Given the description of an element on the screen output the (x, y) to click on. 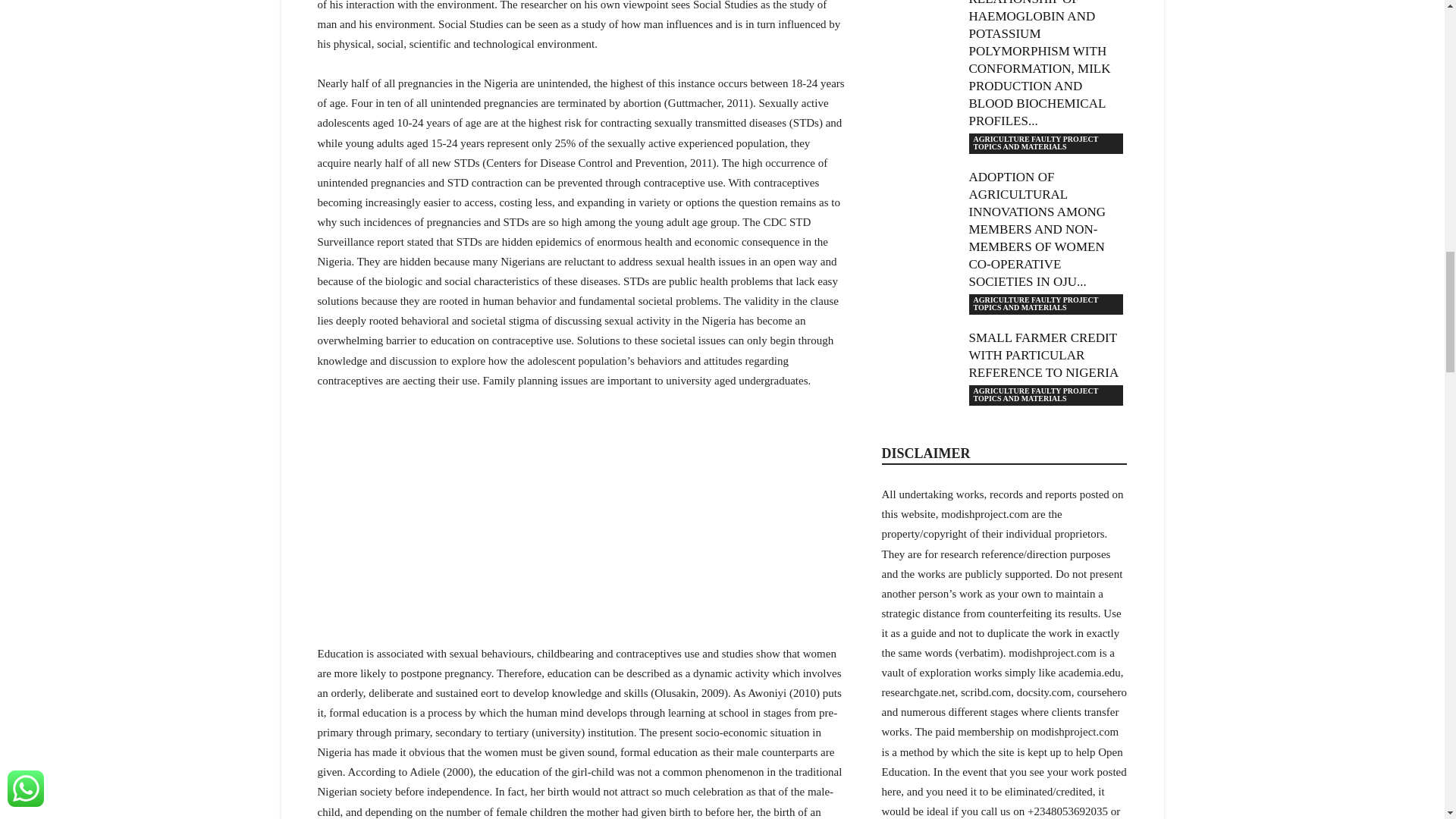
Advertisement (580, 524)
